Given the description of an element on the screen output the (x, y) to click on. 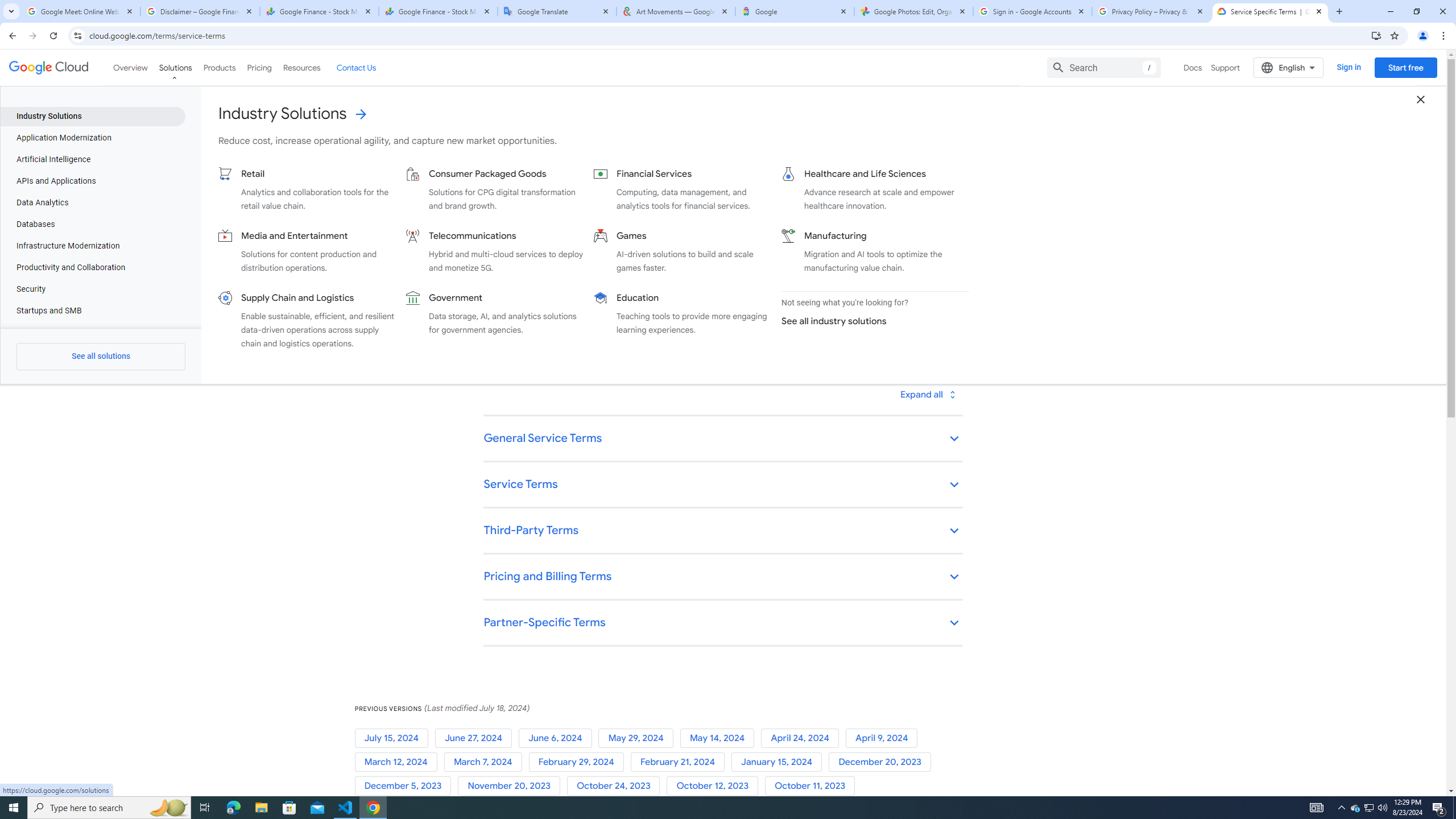
Toggle all (927, 393)
Productivity and Collaboration (92, 267)
Third-Party Terms keyboard_arrow_down (722, 531)
January 15, 2024 (779, 761)
February 29, 2024 (579, 761)
October 24, 2023 (616, 786)
Google Translate (556, 11)
APIs and Applications (92, 180)
